Given the description of an element on the screen output the (x, y) to click on. 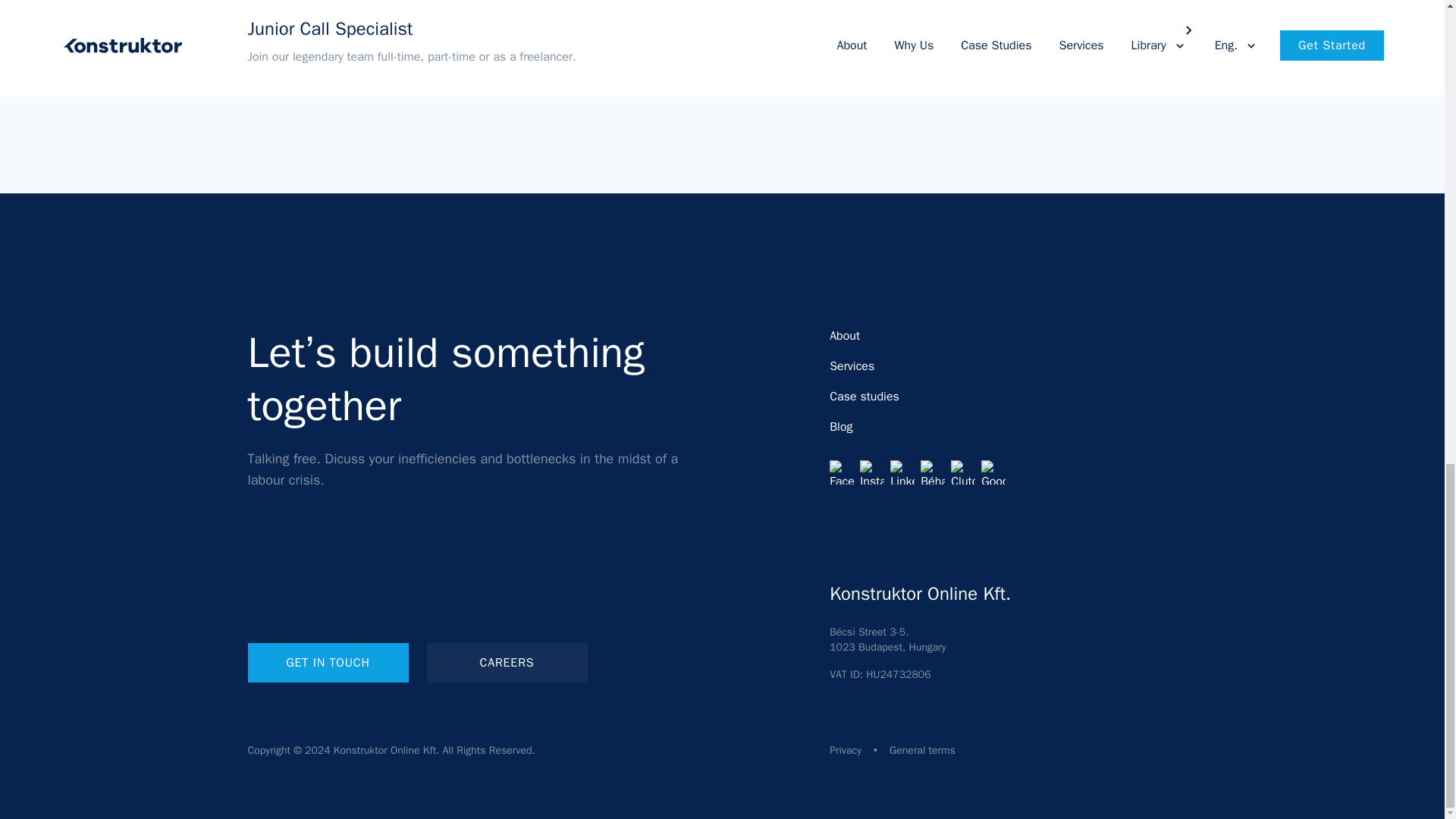
Konstruktor Online on GoodFirms (993, 472)
Case studies (864, 396)
KonstruktorOnline Facebook (841, 472)
Konstruktor Online on LinkedIn (901, 472)
Blog (840, 426)
Services (852, 365)
About (844, 335)
Konstruktor Online on Behance (932, 472)
Konstruktor Online on Clutch (962, 472)
